Given the description of an element on the screen output the (x, y) to click on. 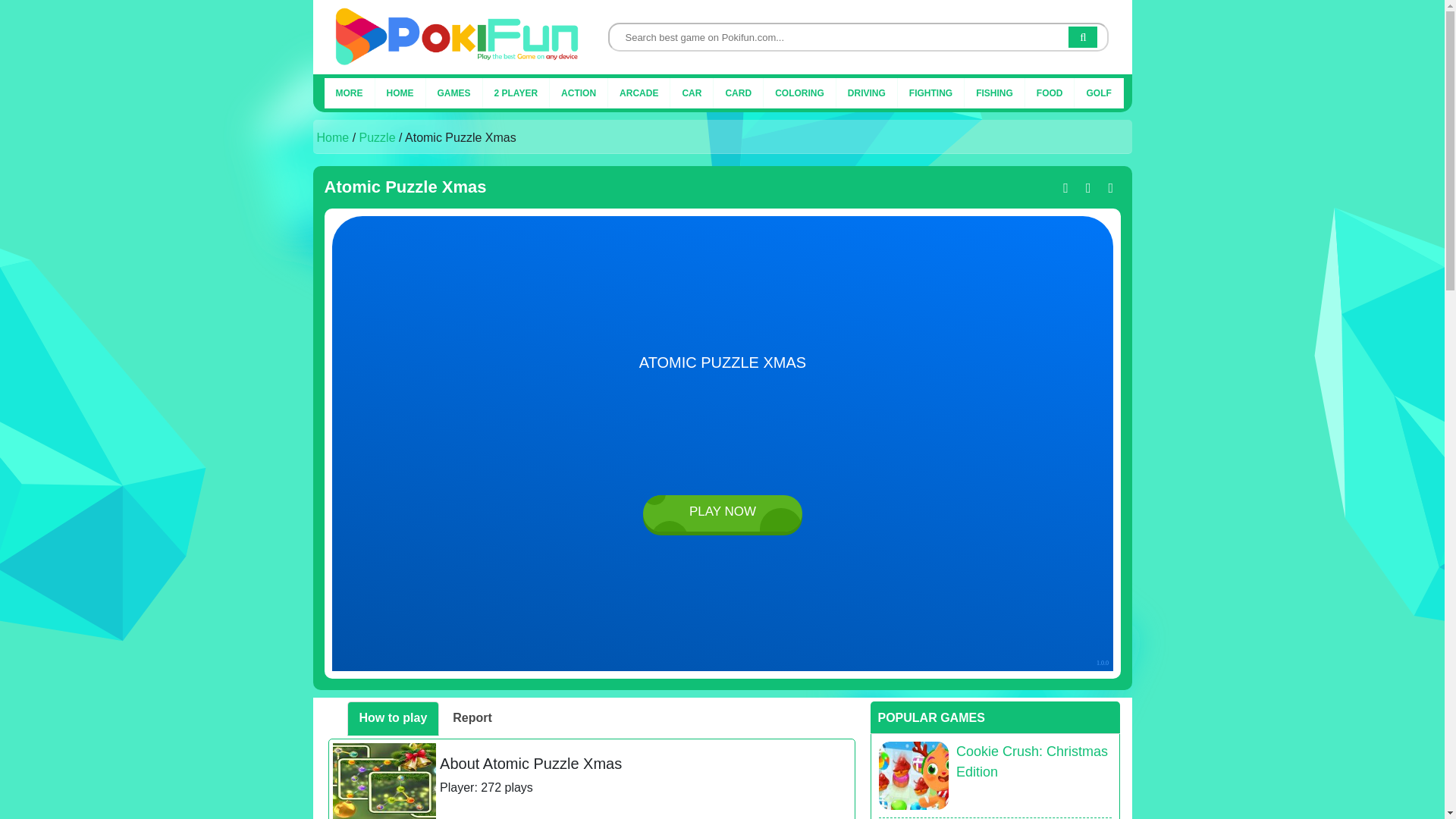
GAMES (453, 92)
CAR (691, 92)
Home (333, 137)
HOME (398, 92)
MORE (348, 92)
How to play (393, 718)
DRIVING (866, 92)
Puzzle (377, 137)
CARD (737, 92)
Search (1082, 36)
